Given the description of an element on the screen output the (x, y) to click on. 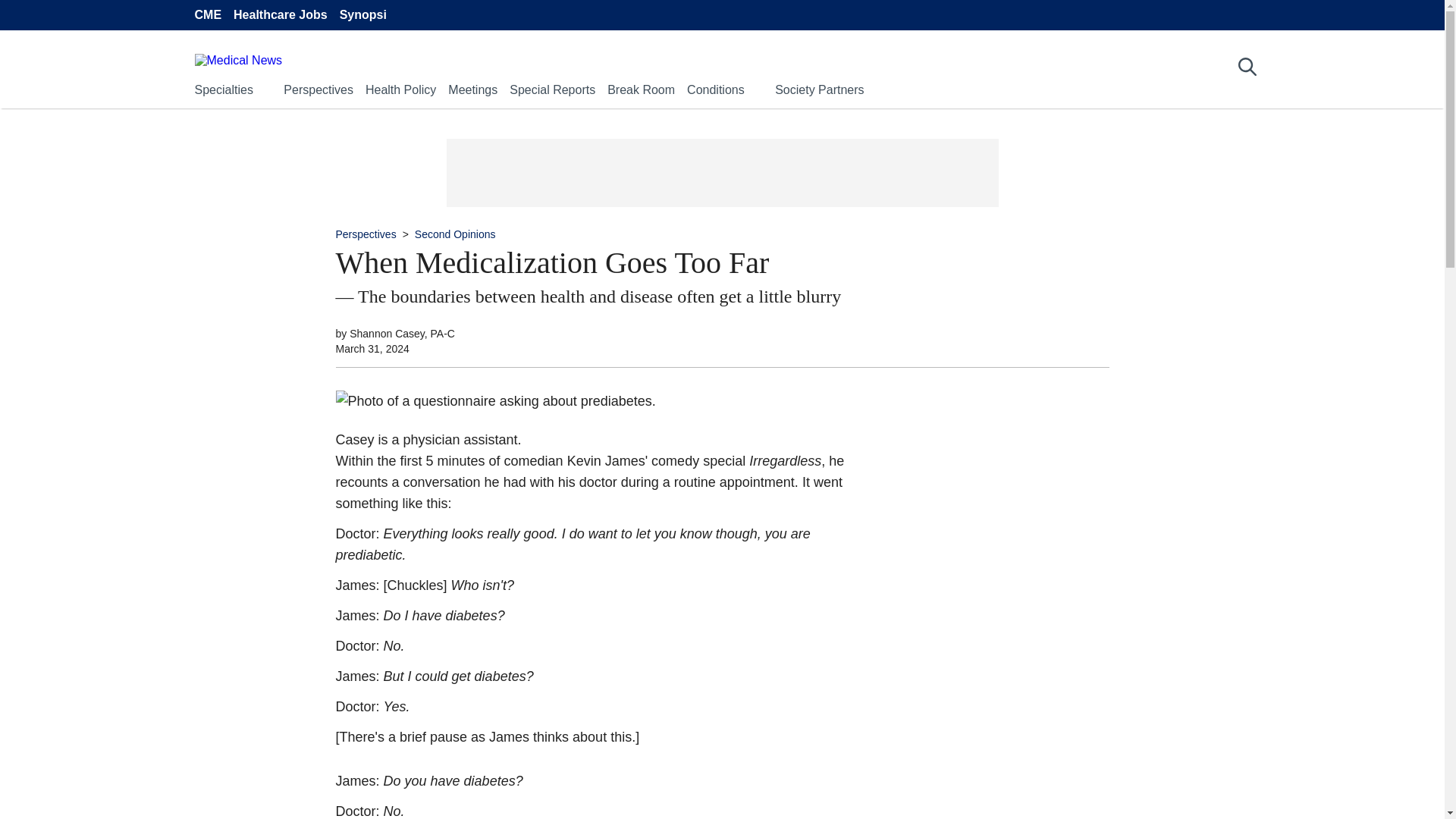
CME (207, 15)
Specialties (222, 89)
Synopsi (363, 15)
Healthcare Jobs (279, 15)
